Given the description of an element on the screen output the (x, y) to click on. 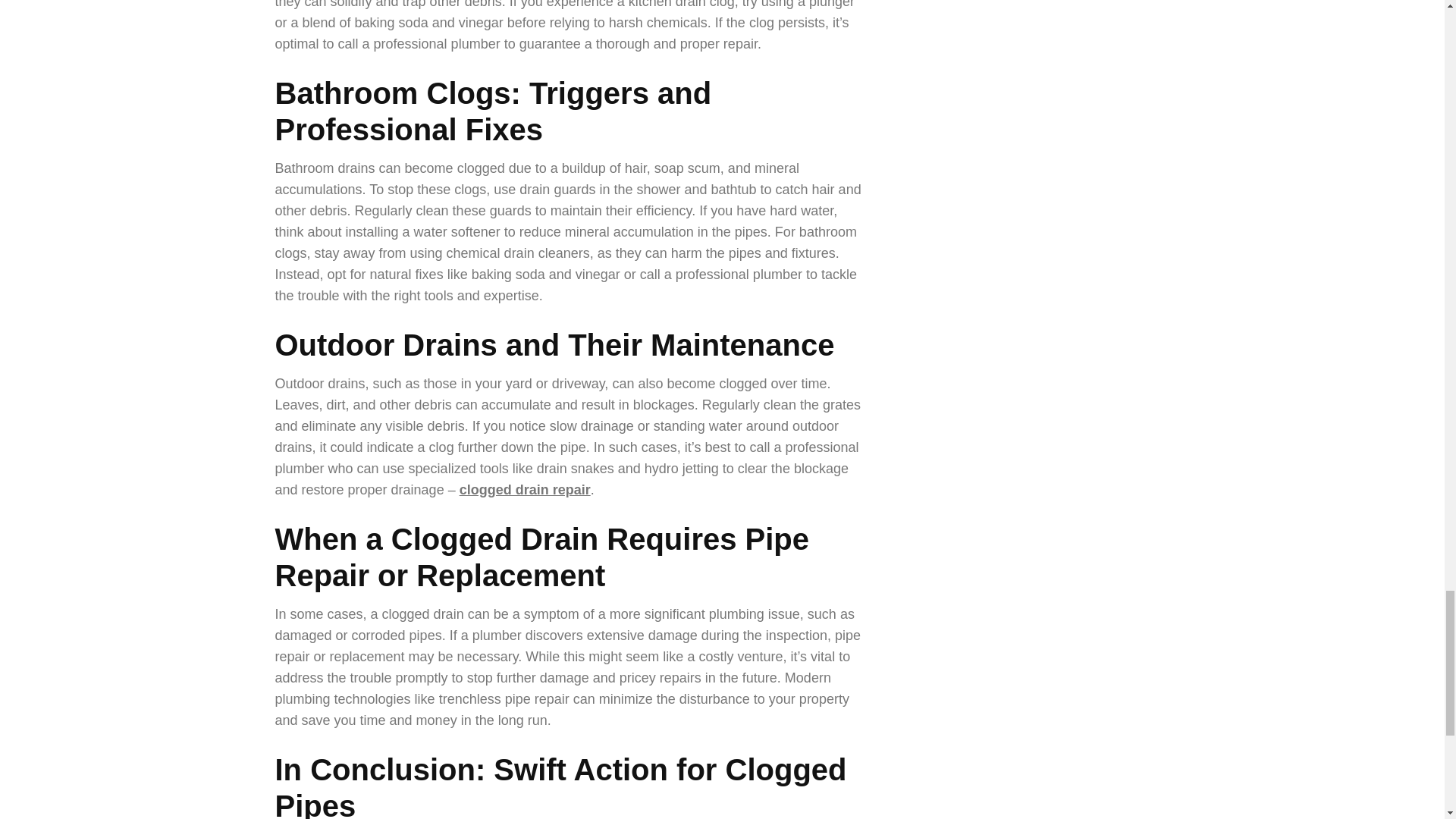
clogged drain repair (525, 489)
